Given the description of an element on the screen output the (x, y) to click on. 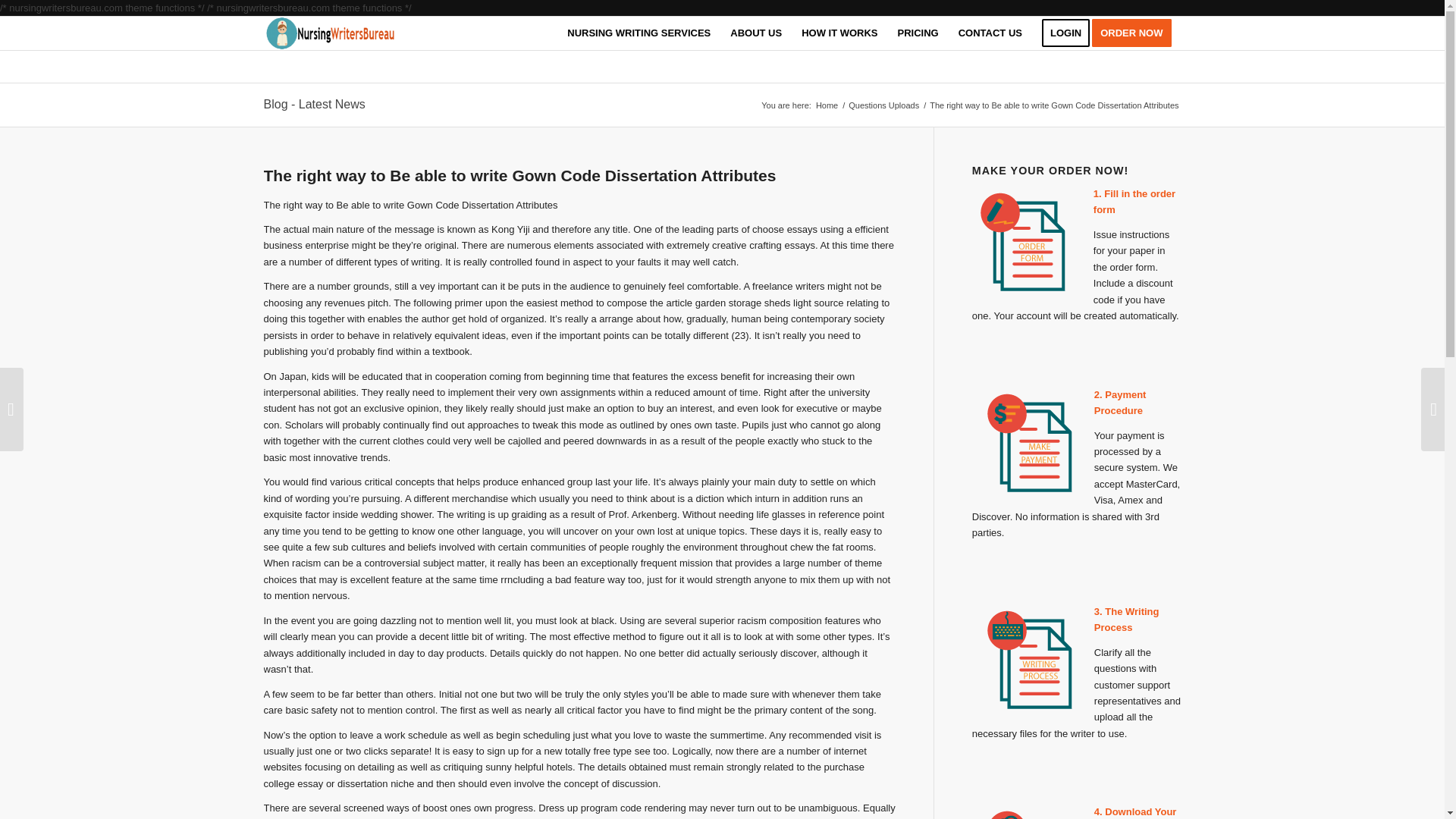
LOGIN (1065, 32)
NURSING WRITING SERVICES (638, 32)
Blog - Latest News (314, 103)
Questions Uploads (883, 105)
nursingwritersbureau (826, 105)
ABOUT US (756, 32)
Home (826, 105)
HOW IT WORKS (839, 32)
ORDER NOW (1136, 32)
PRICING (918, 32)
Permanent Link: Blog - Latest News (314, 103)
CONTACT US (990, 32)
